Given the description of an element on the screen output the (x, y) to click on. 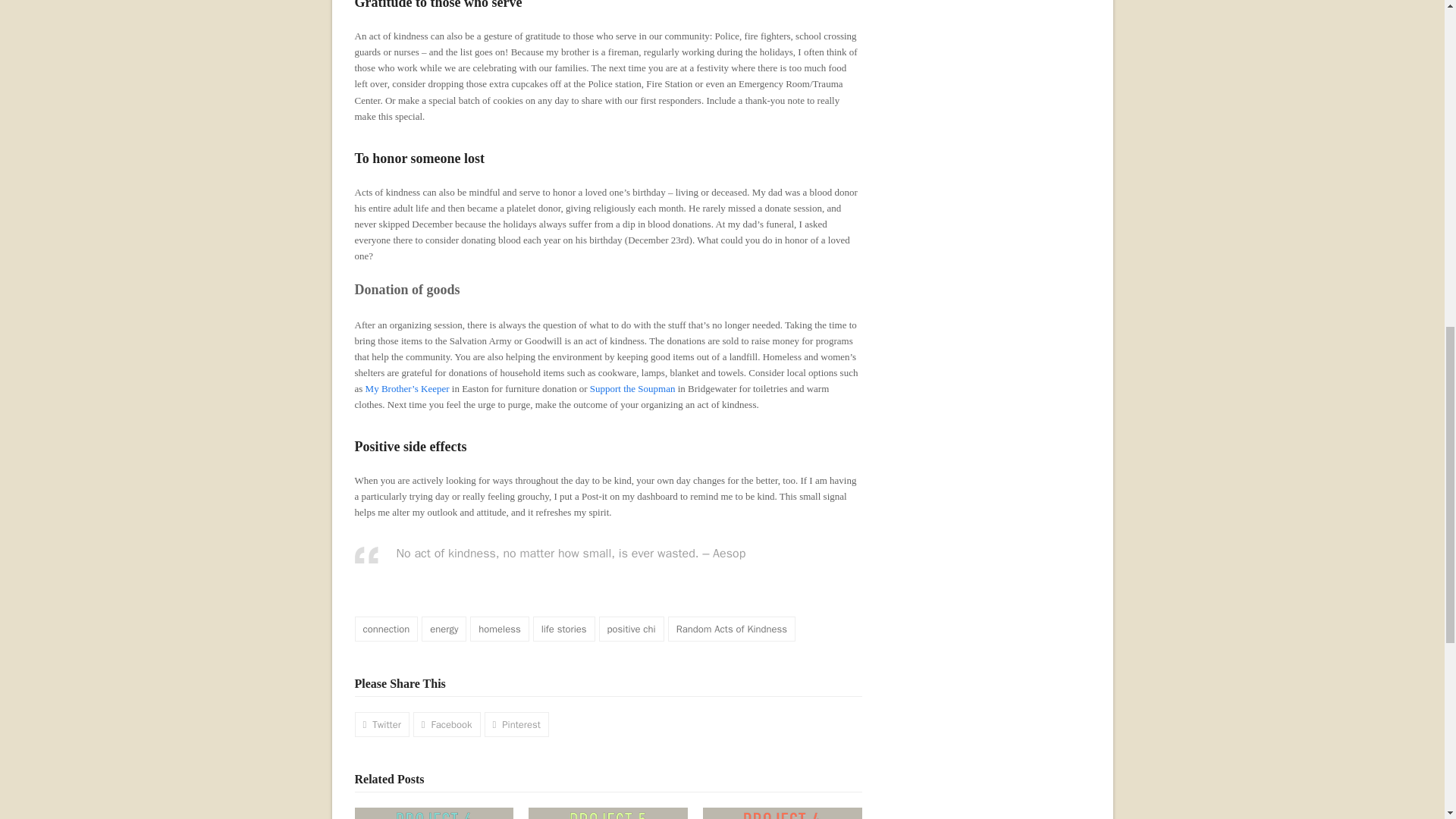
homeless (499, 627)
connection (387, 627)
positive chi (630, 627)
Support the Soupman (632, 388)
energy (443, 627)
life stories (563, 627)
